Given the description of an element on the screen output the (x, y) to click on. 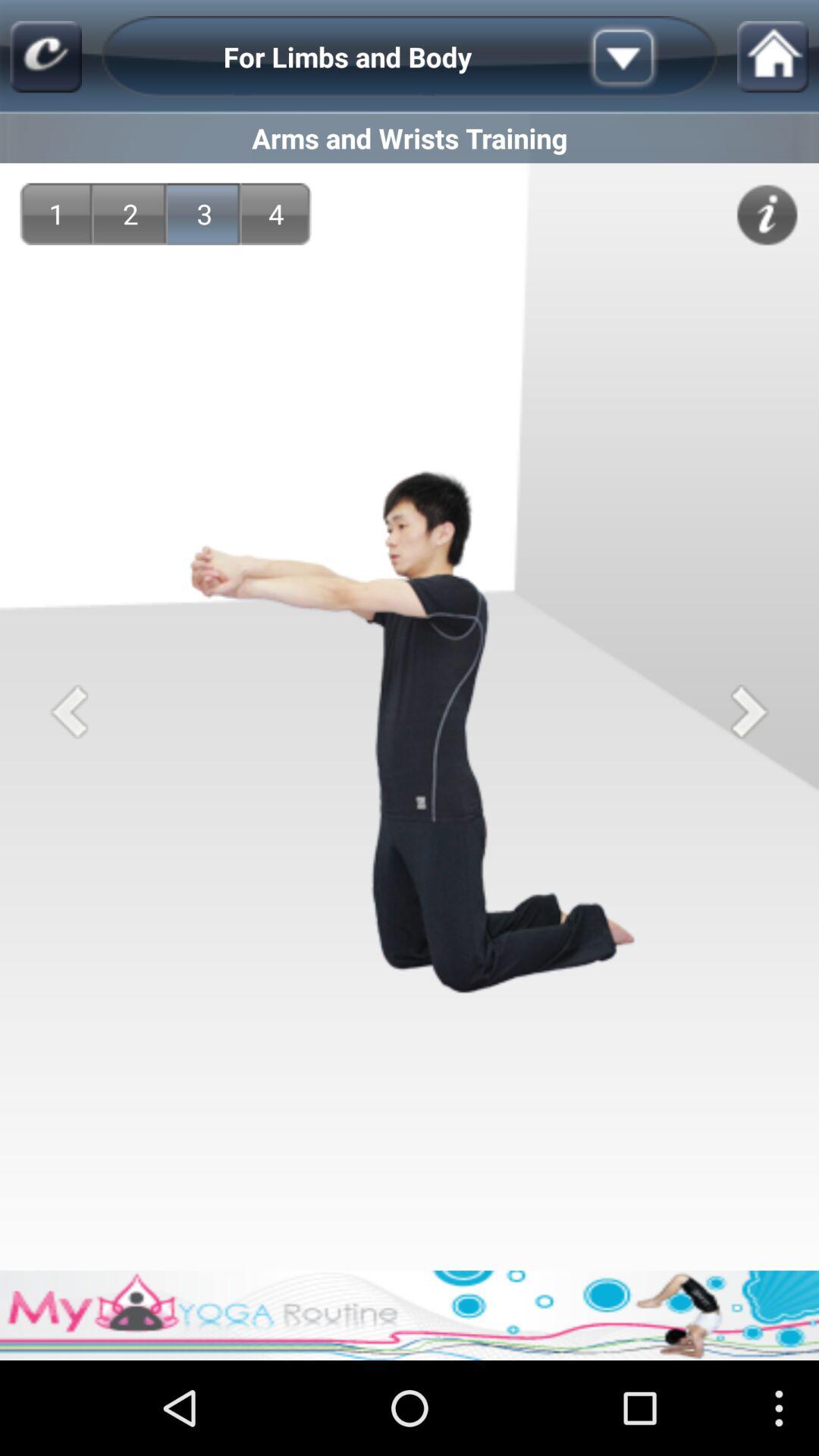
go to home page (772, 56)
